Given the description of an element on the screen output the (x, y) to click on. 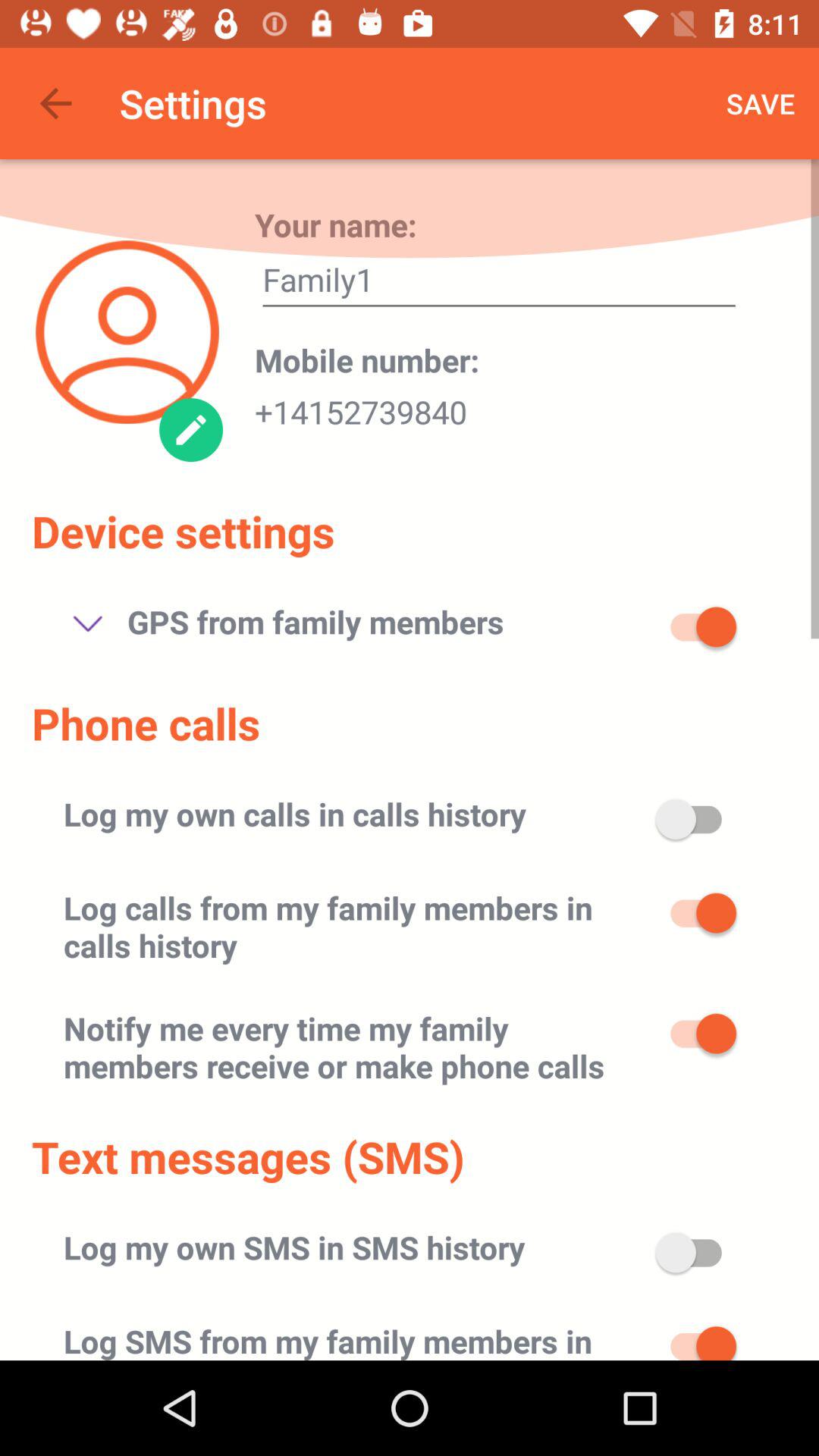
launch the icon below family1 item (366, 359)
